Given the description of an element on the screen output the (x, y) to click on. 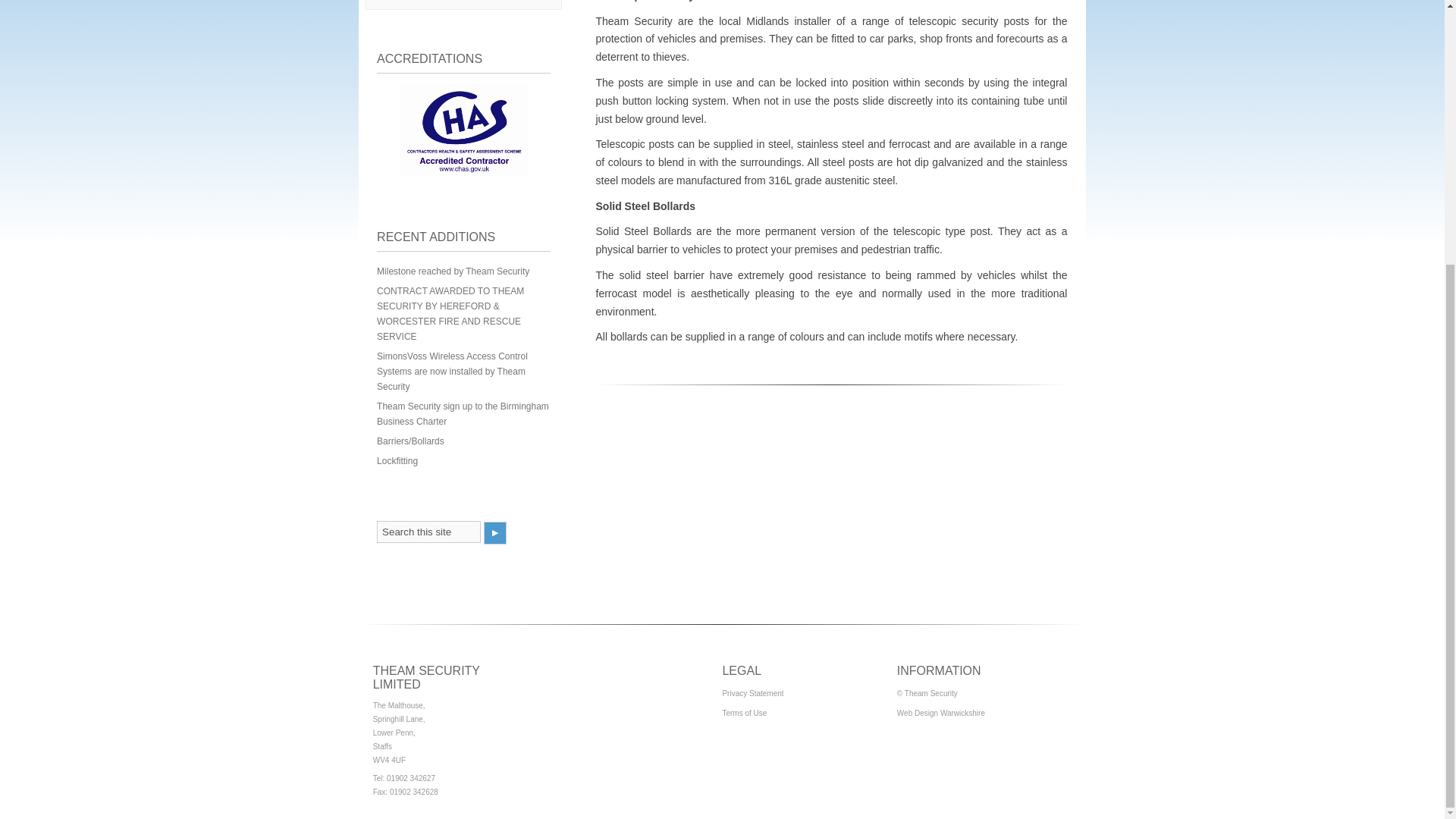
Theam Security sign up to the Birmingham Business Charter (462, 413)
Lockfitting (397, 460)
Milestone reached by Theam Security (453, 271)
Web Design Warwickshire (940, 713)
Privacy Statement (752, 693)
Search this site (428, 531)
Terms of Use (744, 713)
